Given the description of an element on the screen output the (x, y) to click on. 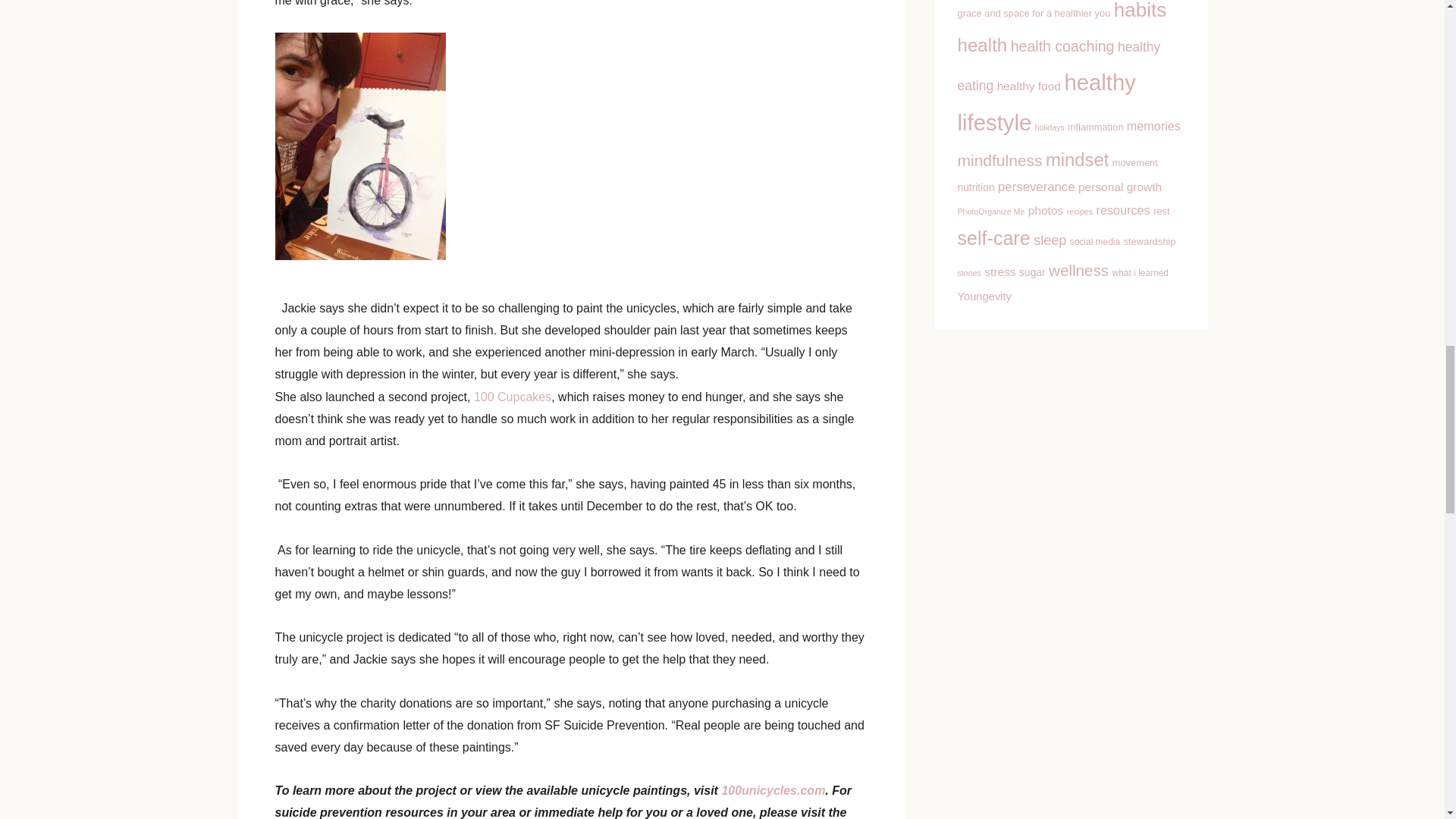
100 Cupcakes (512, 396)
100unicycles.com (772, 789)
